Given the description of an element on the screen output the (x, y) to click on. 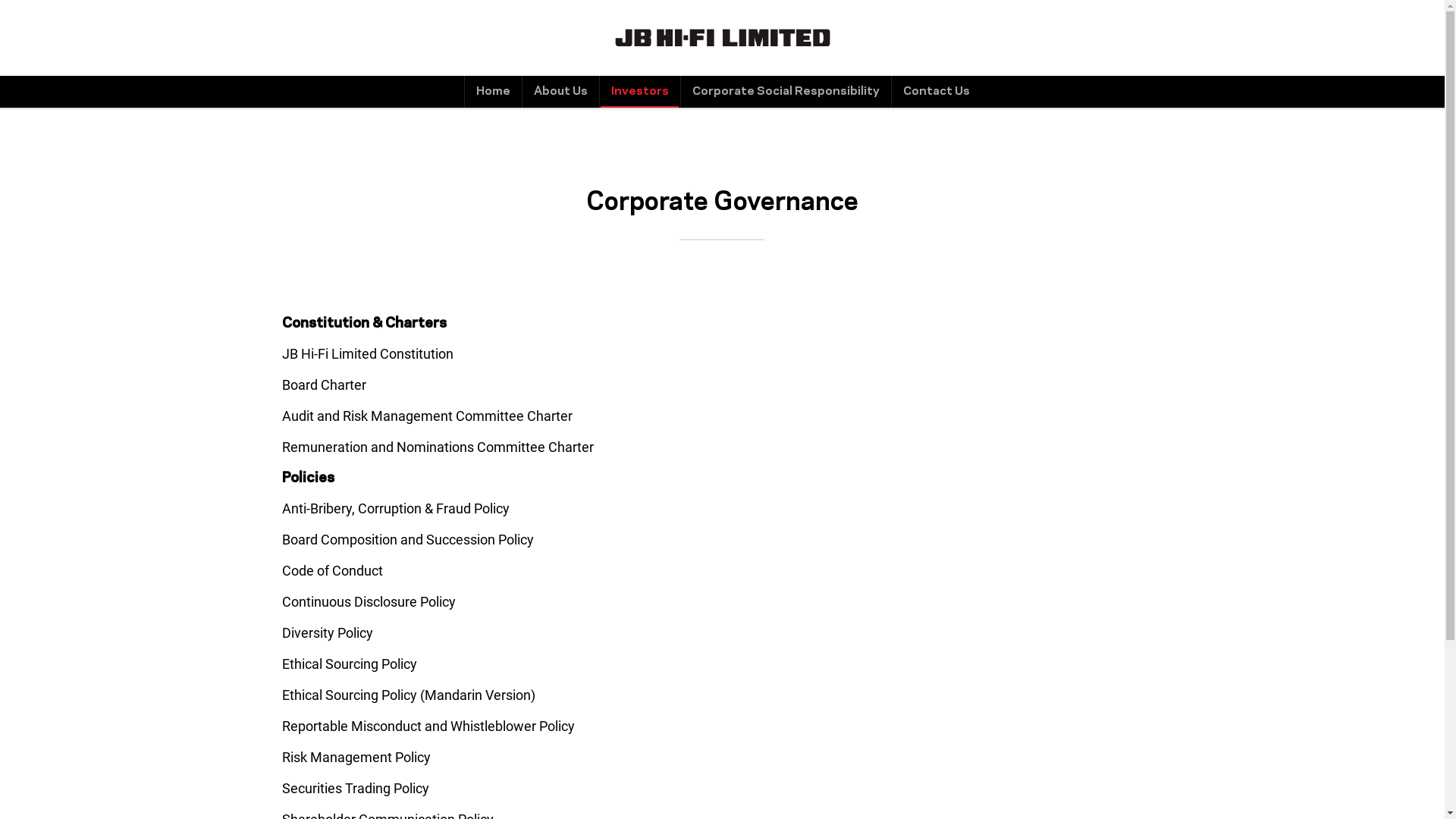
Investors Element type: text (639, 91)
Board Charter Element type: text (324, 384)
Continuous Disclosure Policy Element type: text (368, 601)
Ethical Sourcing Policy (Mandarin Version) Element type: text (408, 694)
Securities Trading Policy Element type: text (355, 788)
Board Composition and Succession Policy Element type: text (407, 539)
Risk Management Policy Element type: text (356, 757)
Contact Us Element type: text (935, 91)
Ethical Sourcing Policy Element type: text (349, 663)
JB Hi-Fi Limited Constitution Element type: text (367, 353)
About Us Element type: text (560, 91)
Code of Conduct Element type: text (332, 570)
Remuneration and Nominations Committee Charter Element type: text (437, 447)
Anti-Bribery, Corruption & Fraud Policy Element type: text (395, 508)
Audit and Risk Management Committee Charter Element type: text (427, 415)
Corporate Social Responsibility Element type: text (784, 91)
Reportable Misconduct and Whistleblower Policy Element type: text (428, 726)
Home Element type: text (492, 91)
Diversity Policy Element type: text (327, 632)
